Given the description of an element on the screen output the (x, y) to click on. 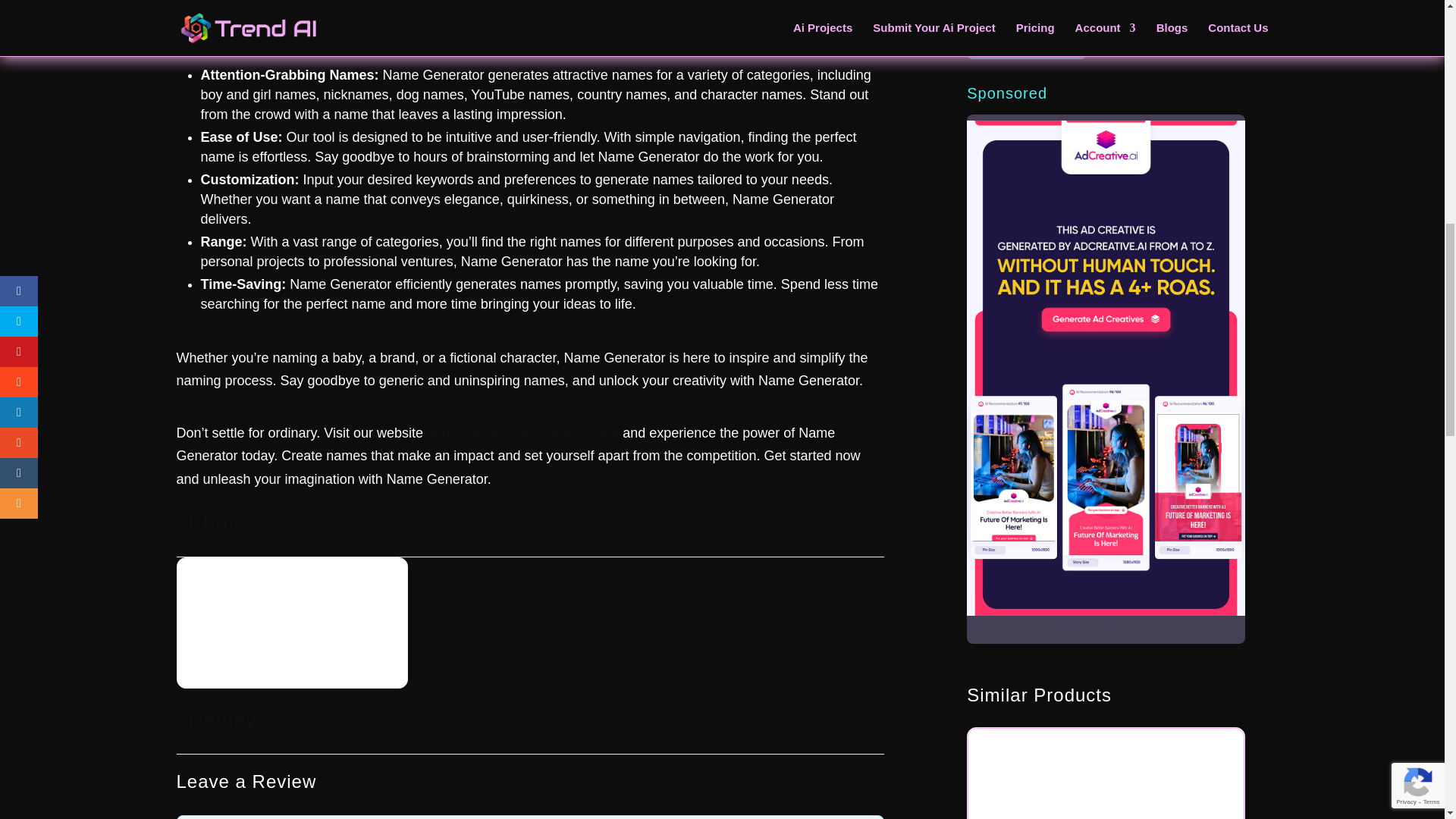
Reviews (224, 720)
Photos (216, 522)
Claim Listing (1026, 40)
Advertise Here (1106, 626)
